Given the description of an element on the screen output the (x, y) to click on. 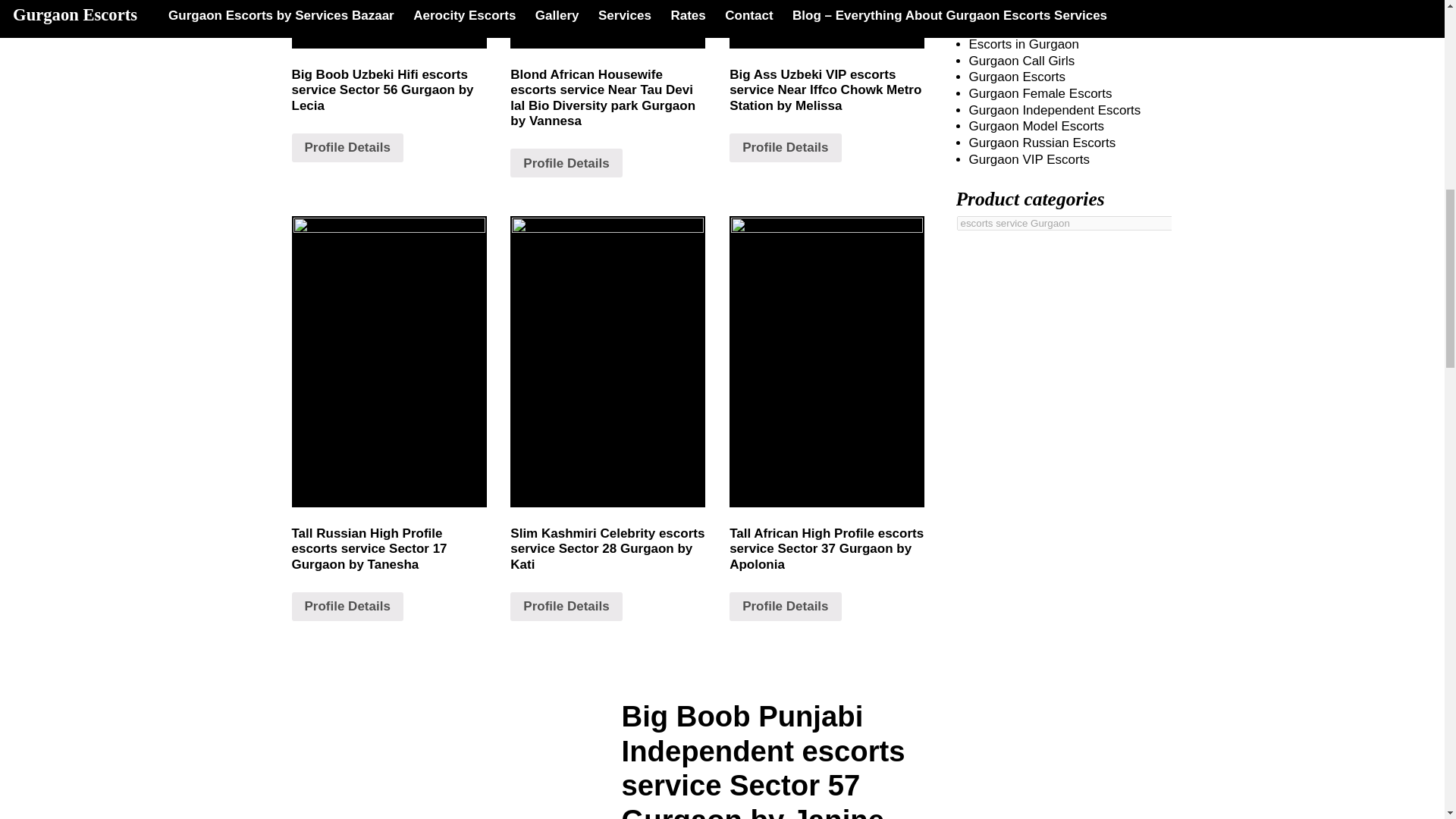
Profile Details (566, 162)
Profile Details (785, 606)
Profile Details (785, 147)
Profile Details (566, 606)
Profile Details (347, 606)
Profile Details (347, 147)
